Given the description of an element on the screen output the (x, y) to click on. 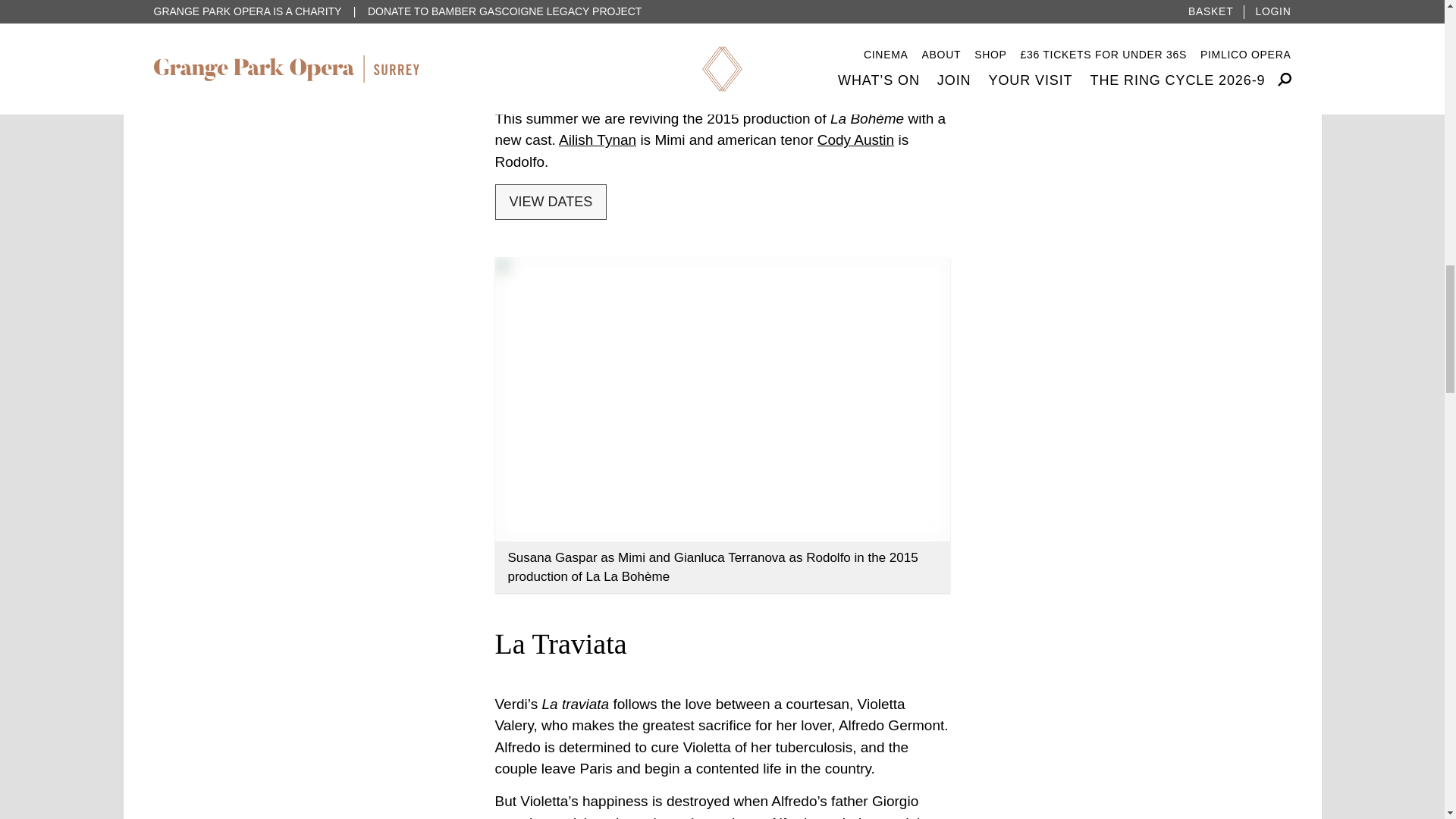
Cody Austin (854, 139)
Ailish Tynan (597, 139)
VIEW DATES (551, 202)
